Given the description of an element on the screen output the (x, y) to click on. 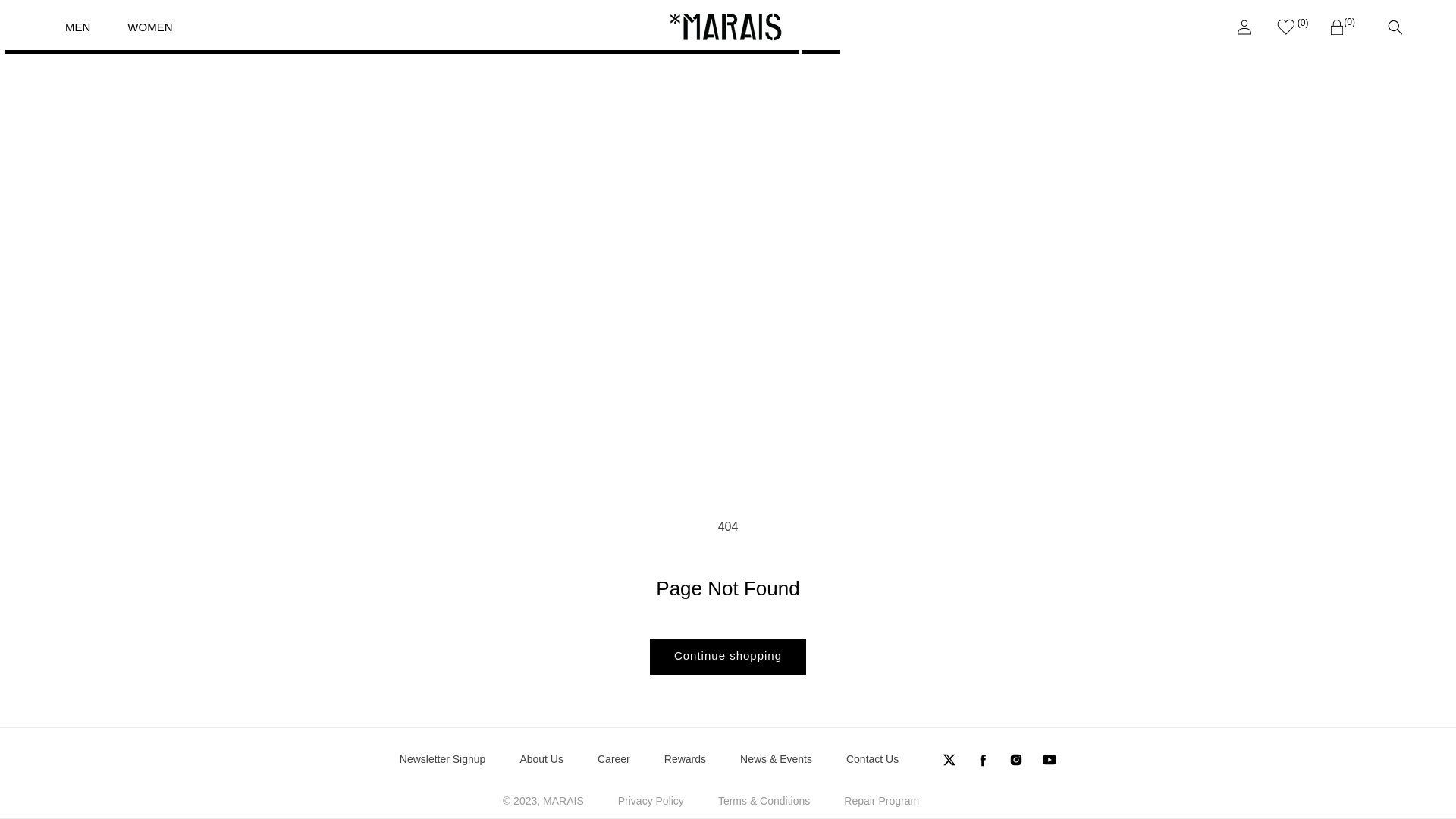
Facebook Element type: text (982, 759)
Continue shopping Element type: text (727, 657)
Instagram Element type: text (1015, 759)
(0) Element type: text (1291, 26)
Rewards Element type: text (685, 758)
Career Element type: text (613, 758)
MARAIS Element type: text (562, 800)
About Us Element type: text (541, 758)
Twitter Element type: text (949, 759)
Newsletter Signup Element type: text (442, 758)
YouTube Element type: text (1044, 759)
Repair Program Element type: text (881, 800)
Contact Us Element type: text (872, 758)
WOMEN Element type: text (145, 26)
News & Events Element type: text (776, 758)
Terms & Conditions Element type: text (763, 800)
Privacy Policy Element type: text (651, 800)
(0) Element type: text (1342, 26)
MEN Element type: text (73, 26)
